Given the description of an element on the screen output the (x, y) to click on. 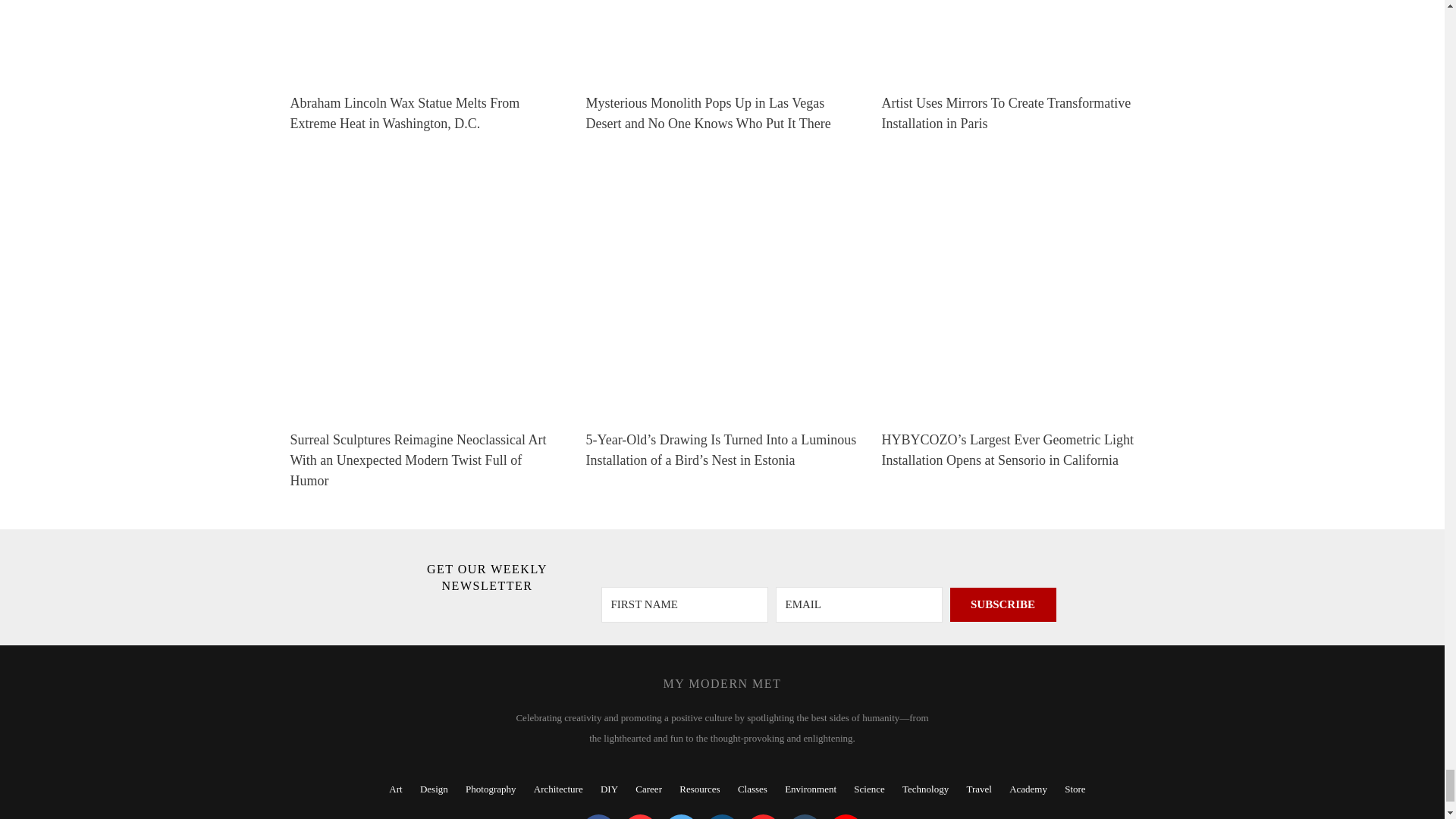
My Modern Met on Twitter (680, 816)
My Modern Met on Tumblr (804, 816)
My Modern Met on YouTube (845, 816)
My Modern Met on Instagram (721, 816)
My Modern Met on Facebook (597, 816)
My Modern Met on Pinterest (640, 816)
